Given the description of an element on the screen output the (x, y) to click on. 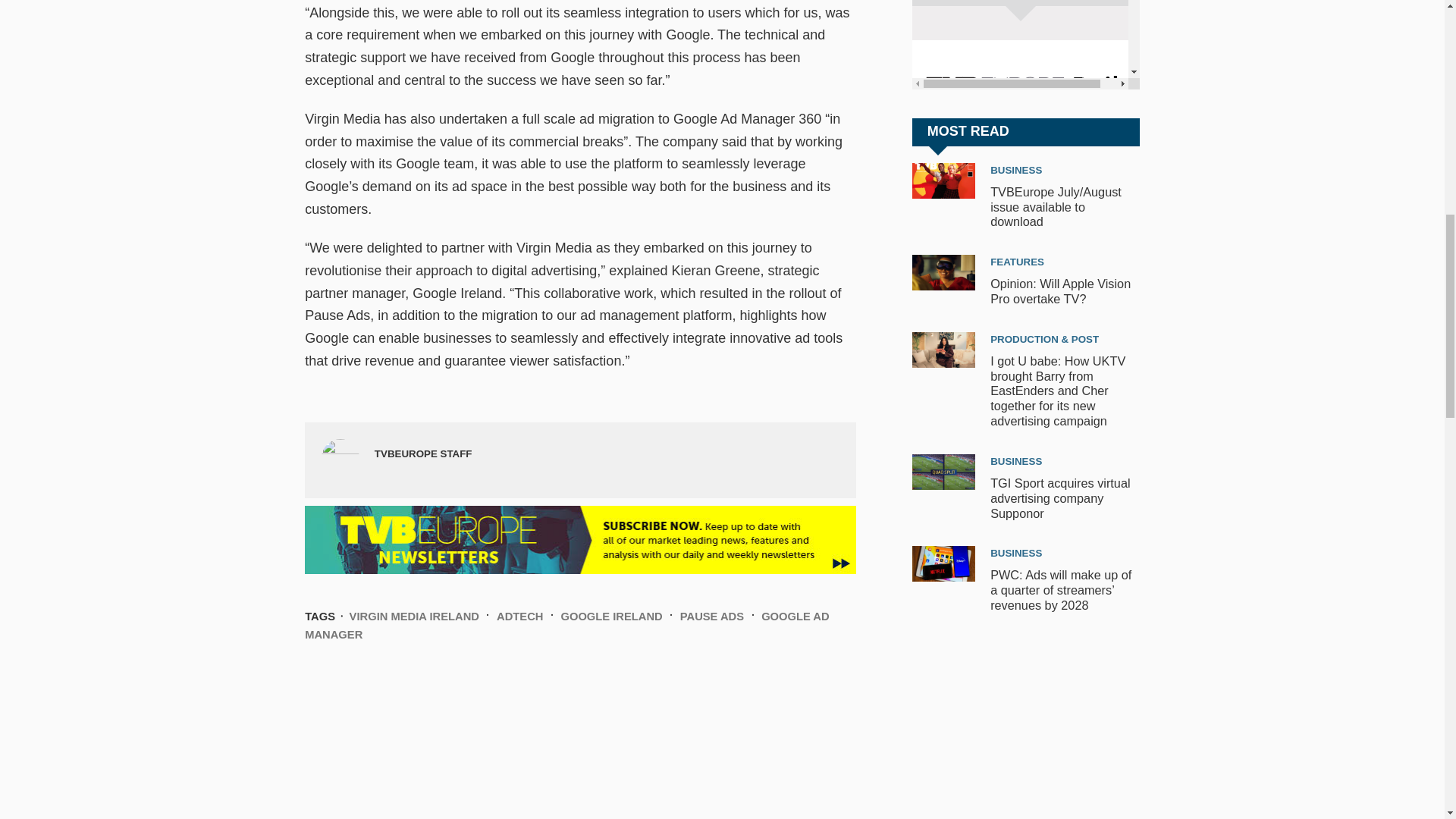
TVBEurope Staff's Author Profile (422, 453)
